Given the description of an element on the screen output the (x, y) to click on. 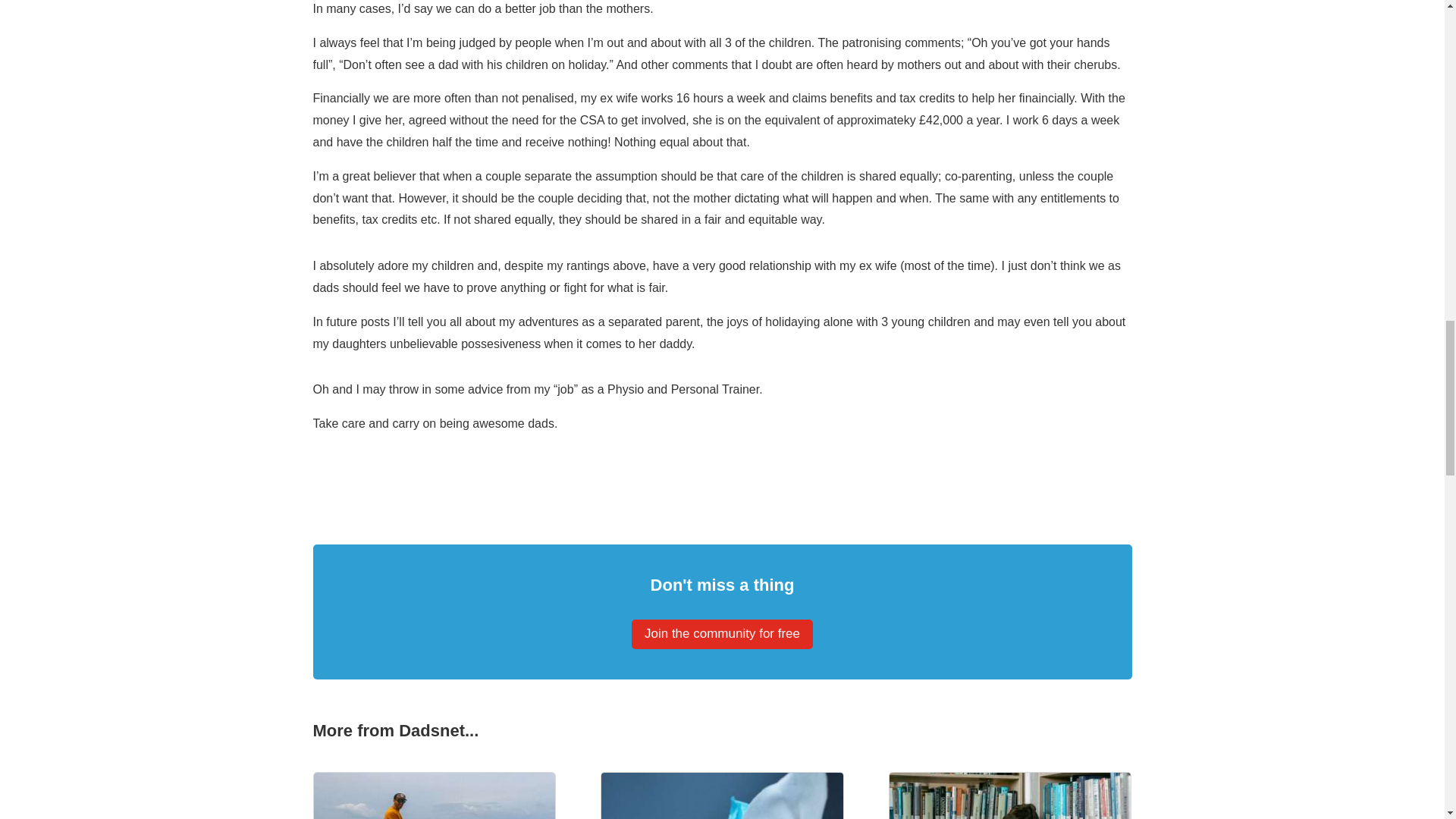
3rd party ad content (721, 468)
